Given the description of an element on the screen output the (x, y) to click on. 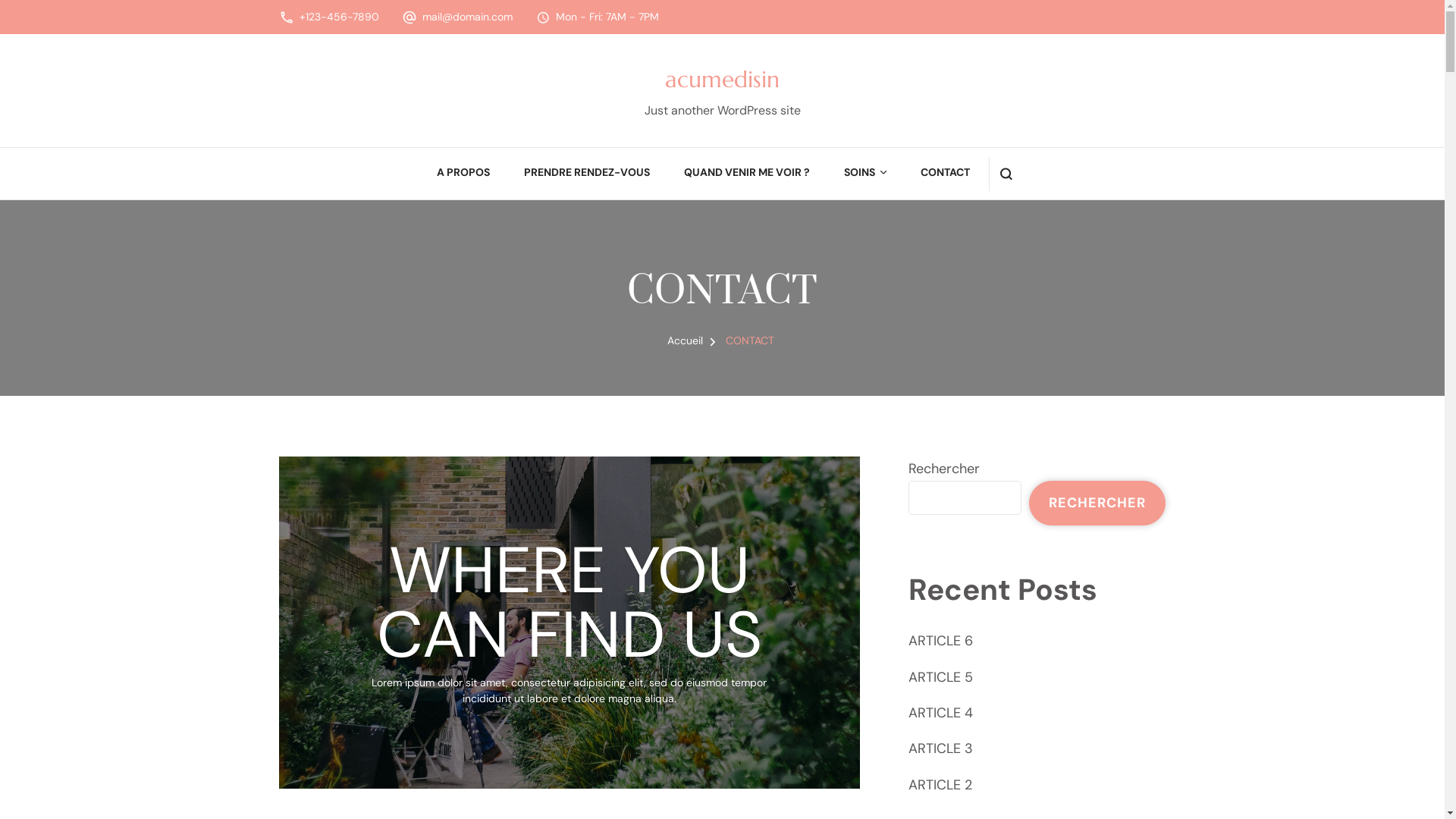
CONTACT Element type: text (748, 340)
mail@domain.com Element type: text (466, 16)
ARTICLE 5 Element type: text (940, 677)
Accueil Element type: text (684, 340)
ARTICLE 6 Element type: text (940, 640)
SOINS Element type: text (859, 173)
+123-456-7890 Element type: text (338, 16)
RECHERCHER Element type: text (1097, 502)
ARTICLE 2 Element type: text (940, 784)
ARTICLE 3 Element type: text (940, 748)
A PROPOS Element type: text (462, 173)
QUAND VENIR ME VOIR ? Element type: text (746, 173)
acumedisin Element type: text (722, 79)
ARTICLE 4 Element type: text (940, 712)
CONTACT Element type: text (944, 173)
PRENDRE RENDEZ-VOUS Element type: text (586, 173)
